Given the description of an element on the screen output the (x, y) to click on. 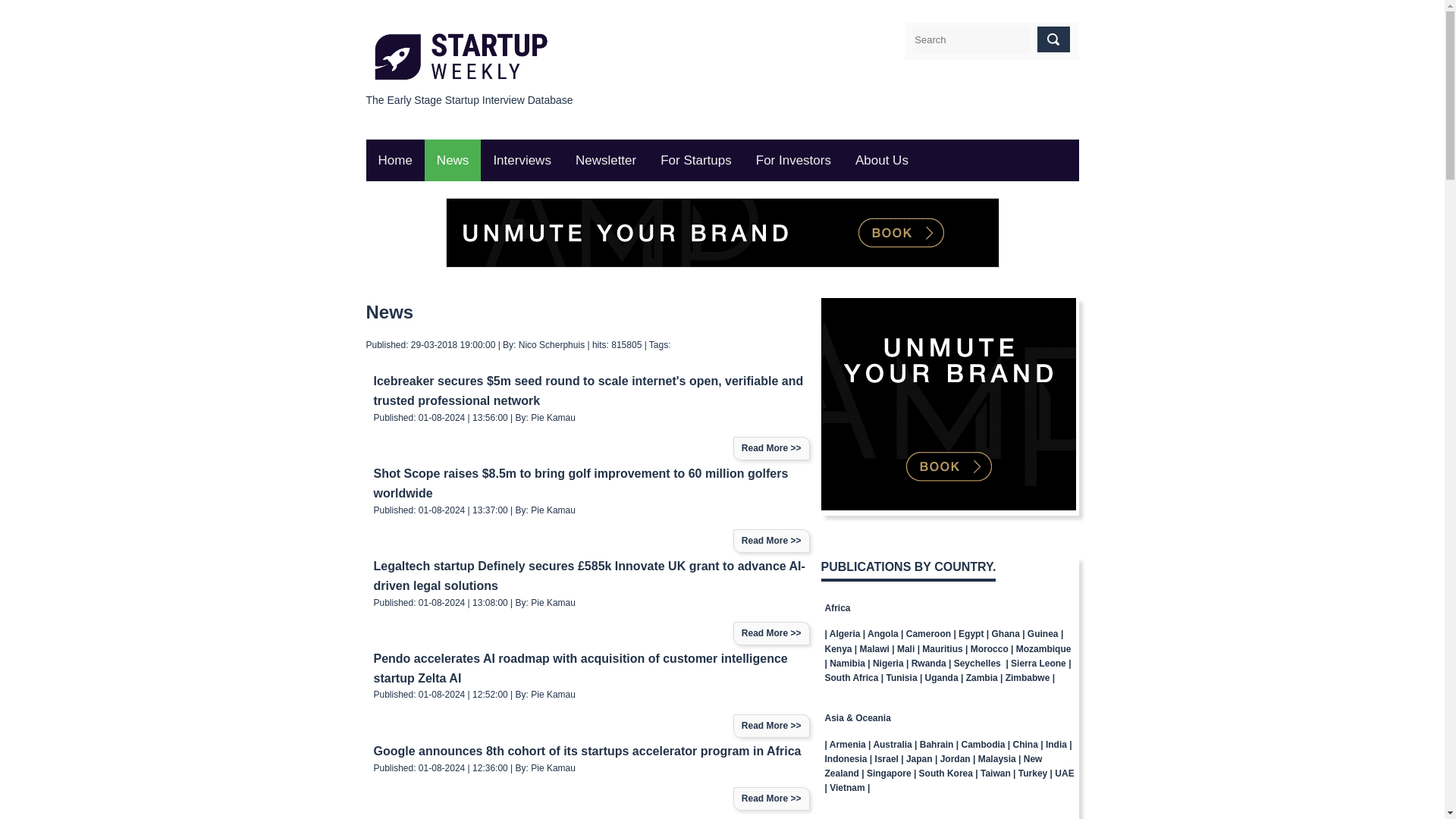
For Investors (793, 159)
For Investors (793, 159)
Newsletter (605, 159)
News (453, 159)
Newsletter (605, 159)
For Startups (695, 159)
Home (394, 159)
For Startups (695, 159)
About Us (881, 159)
Startup Weekly (394, 159)
News (453, 159)
Interviews (521, 159)
